Given the description of an element on the screen output the (x, y) to click on. 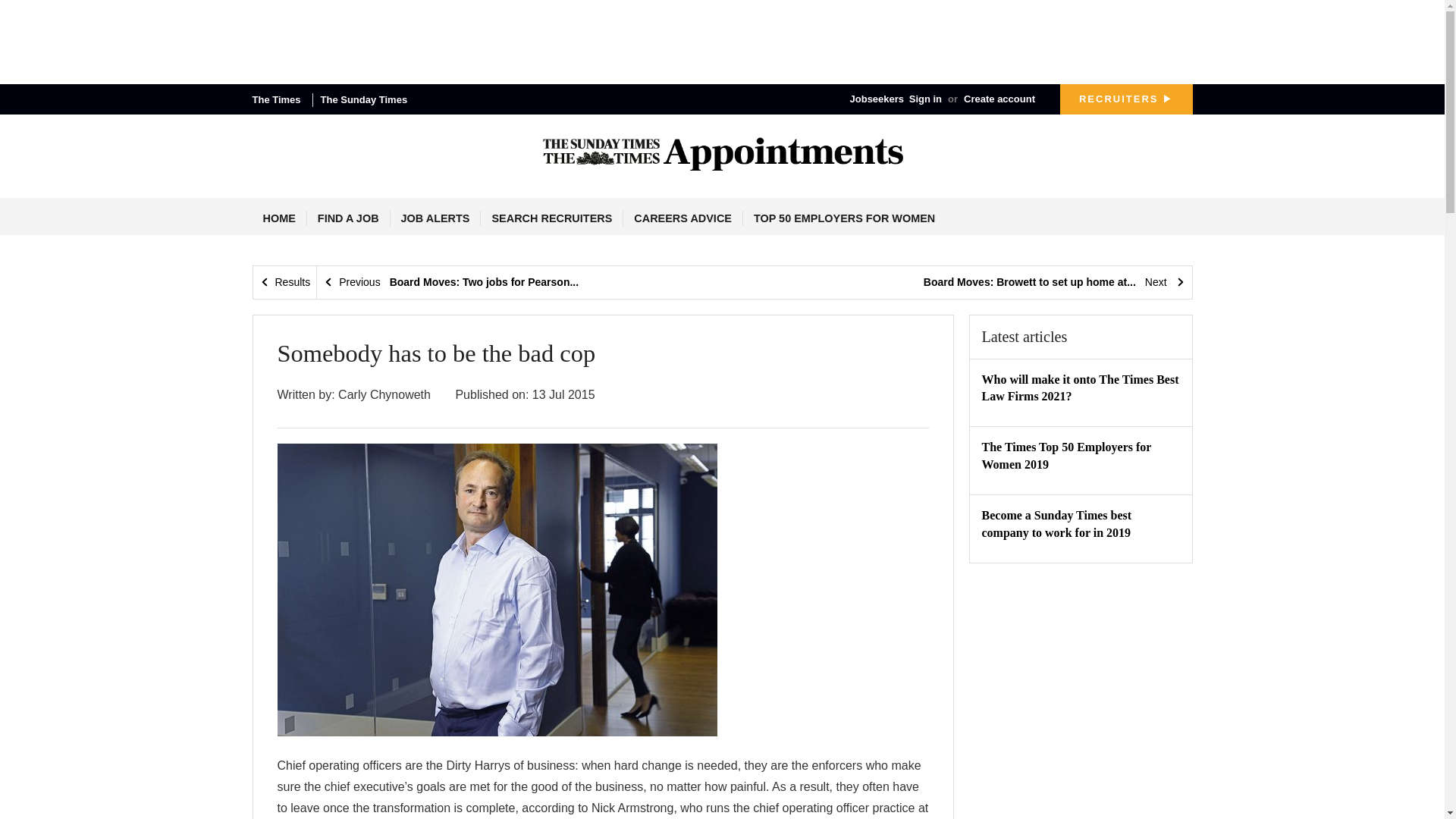
PreviousBoard Moves: Two jobs for Pearson... (451, 282)
HOME (278, 218)
The Times Top 50 Employers for Women 2019 (1066, 455)
JOB ALERTS (435, 218)
The Times (282, 100)
FIND A JOB (348, 218)
Who will make it onto The Times Best Law Firms 2021? (1079, 387)
Become a Sunday Times best company to work for in 2019 (1056, 523)
The Sunday Times (369, 100)
Create account (998, 99)
Board Moves: Browett to set up home at...Next (1054, 282)
CAREERS ADVICE (682, 218)
The Times and The Sunday Times Appointments (722, 153)
Results (285, 282)
RECRUITERS (1125, 99)
